Given the description of an element on the screen output the (x, y) to click on. 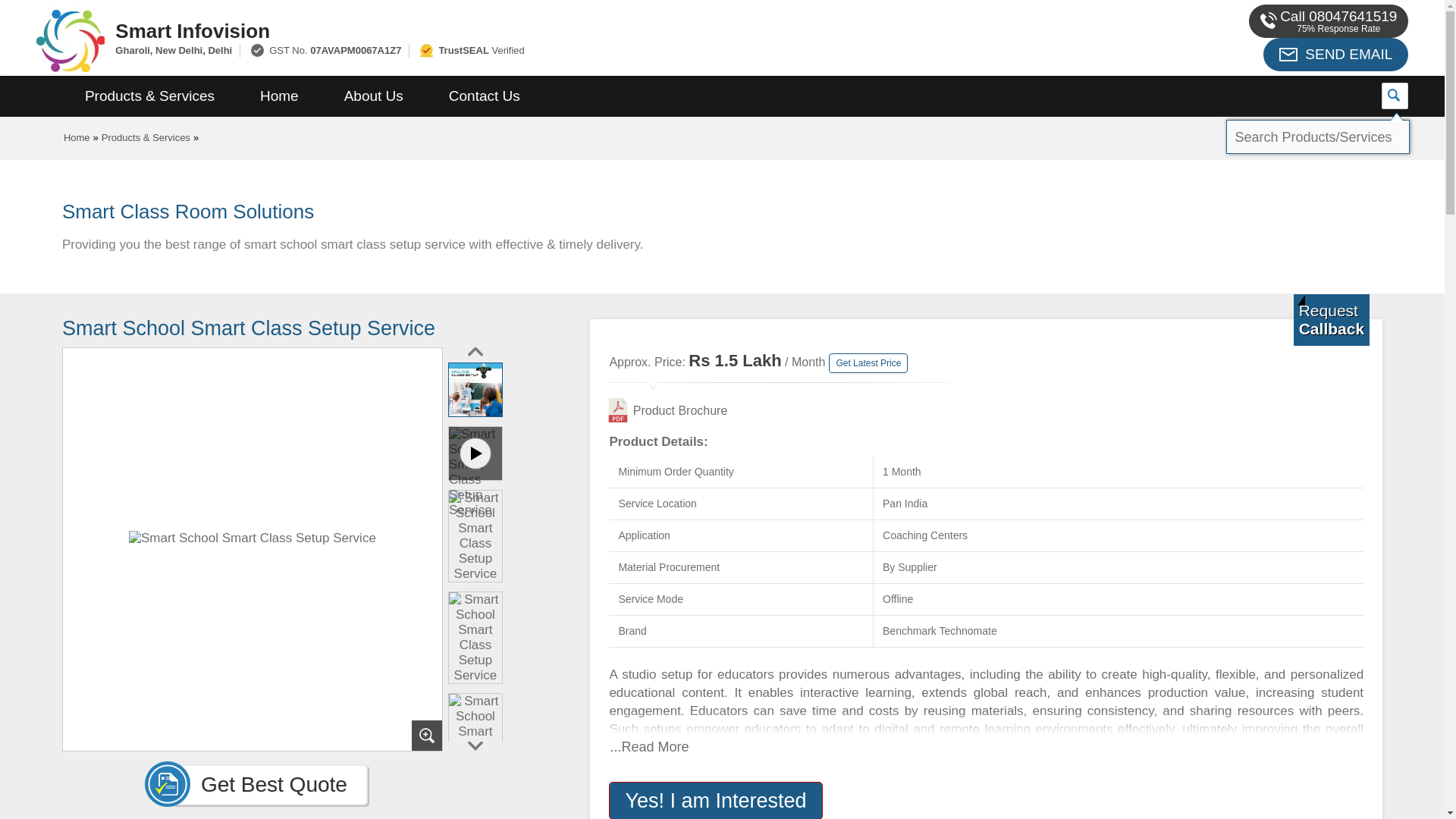
Home (279, 96)
Smart Infovision (552, 31)
Home (77, 137)
Contact Us (484, 96)
Get a Call from us (1332, 319)
About Us (373, 96)
